Given the description of an element on the screen output the (x, y) to click on. 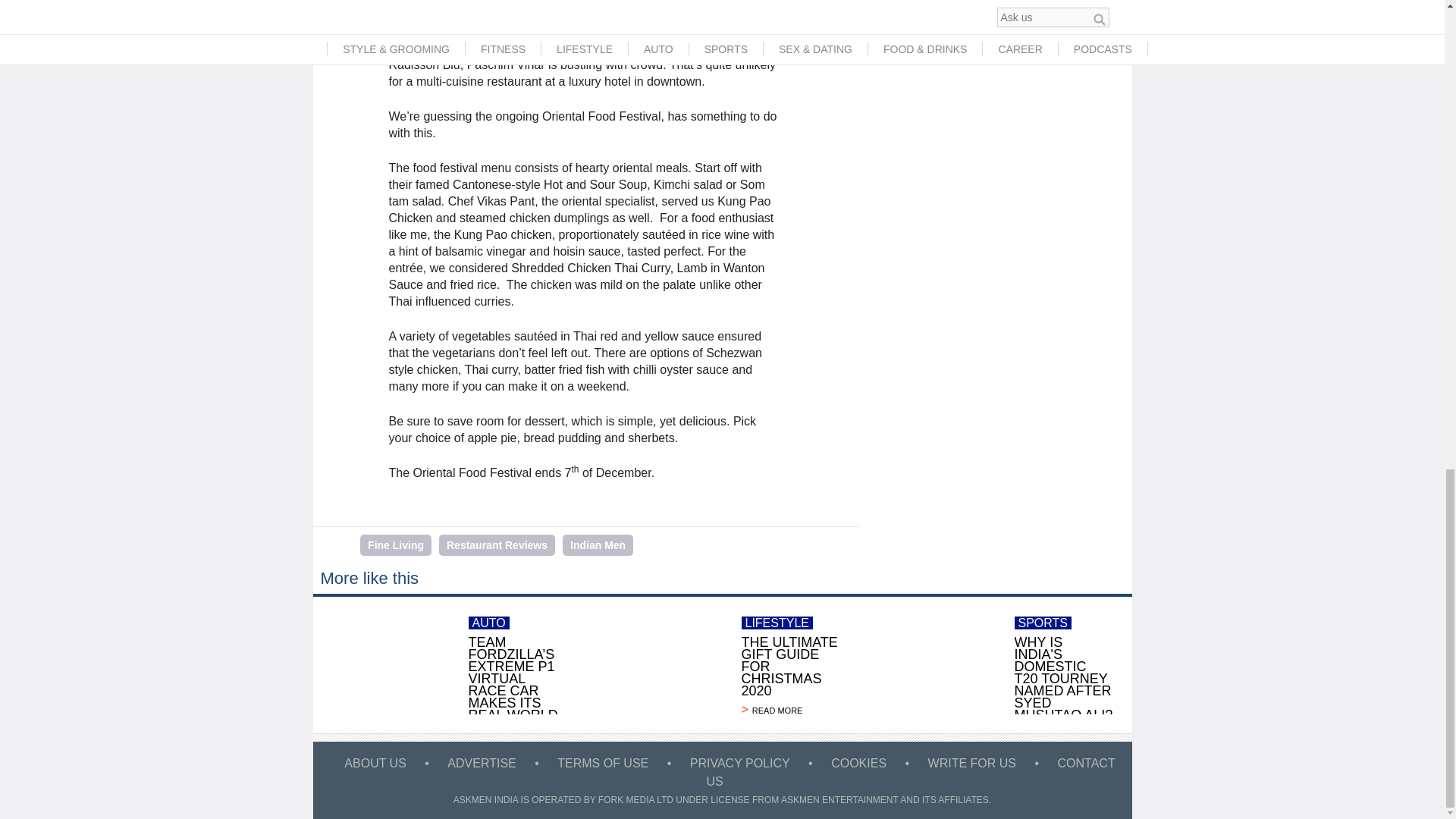
Indian Men (597, 545)
The Ultimate Gift Guide For Christmas 2020 (653, 665)
The Ultimate Gift Guide For Christmas 2020 (790, 709)
Fine Living (394, 545)
Restaurant Reviews (496, 545)
